Given the description of an element on the screen output the (x, y) to click on. 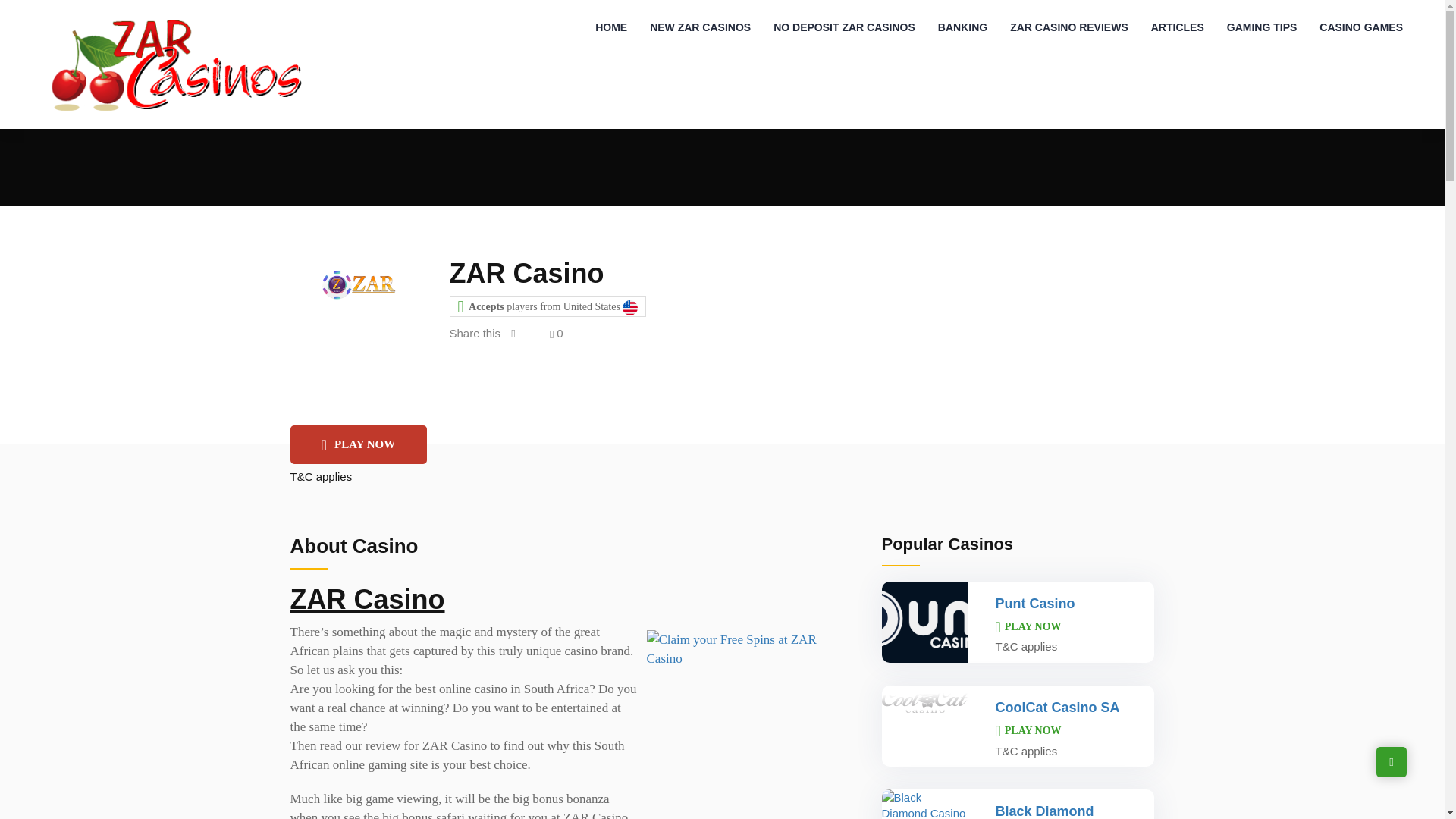
NEW ZAR CASINOS (700, 27)
GAMING TIPS (1261, 27)
NO DEPOSIT ZAR CASINOS (843, 27)
CASINO GAMES (1360, 27)
HOME (611, 27)
ZAR CASINO REVIEWS (1069, 27)
ARTICLES (1177, 27)
BANKING (962, 27)
